Given the description of an element on the screen output the (x, y) to click on. 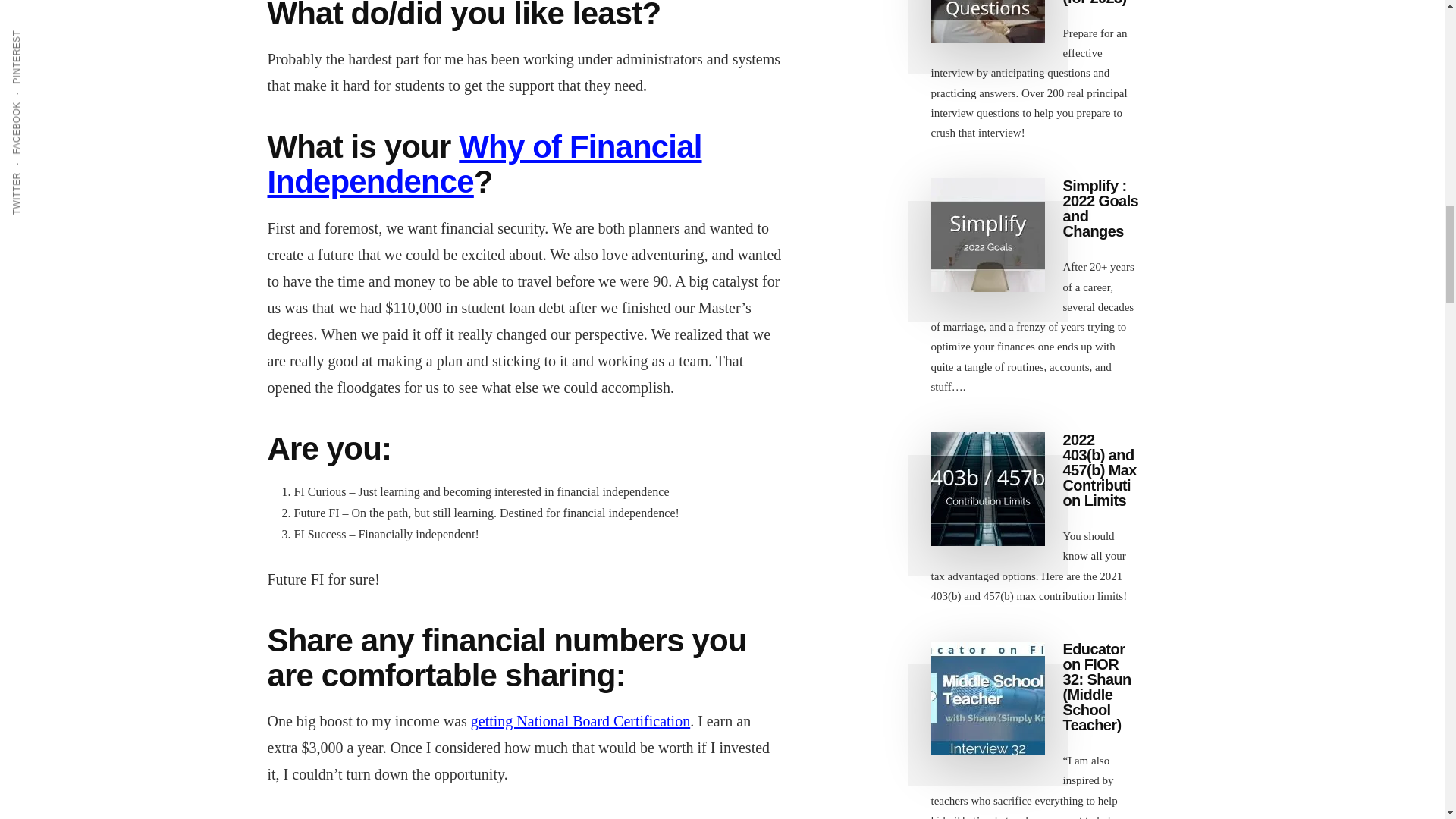
getting National Board Certification (580, 720)
Why of Financial Independence (483, 163)
